Given the description of an element on the screen output the (x, y) to click on. 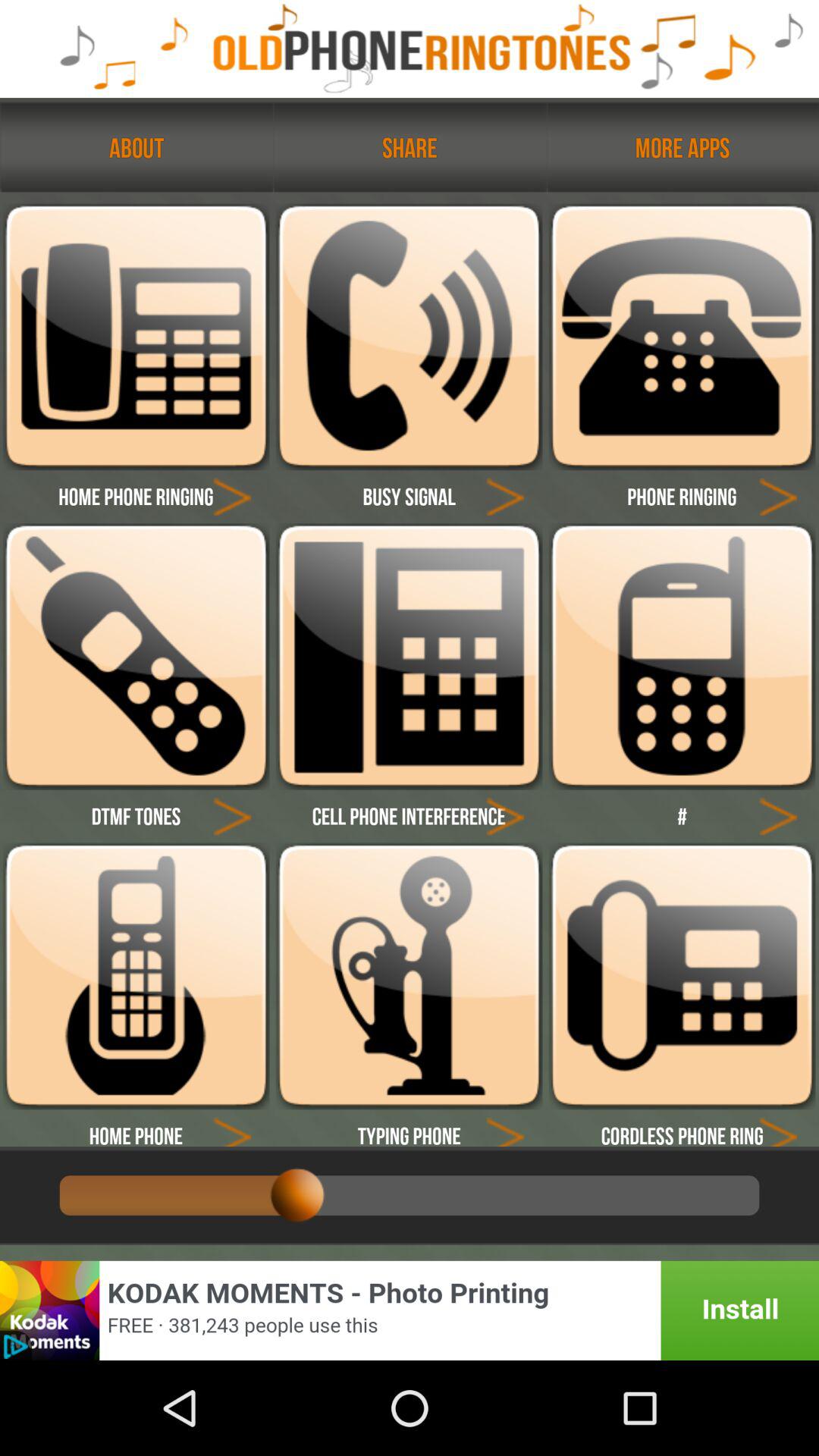
dtmf tones (135, 656)
